Given the description of an element on the screen output the (x, y) to click on. 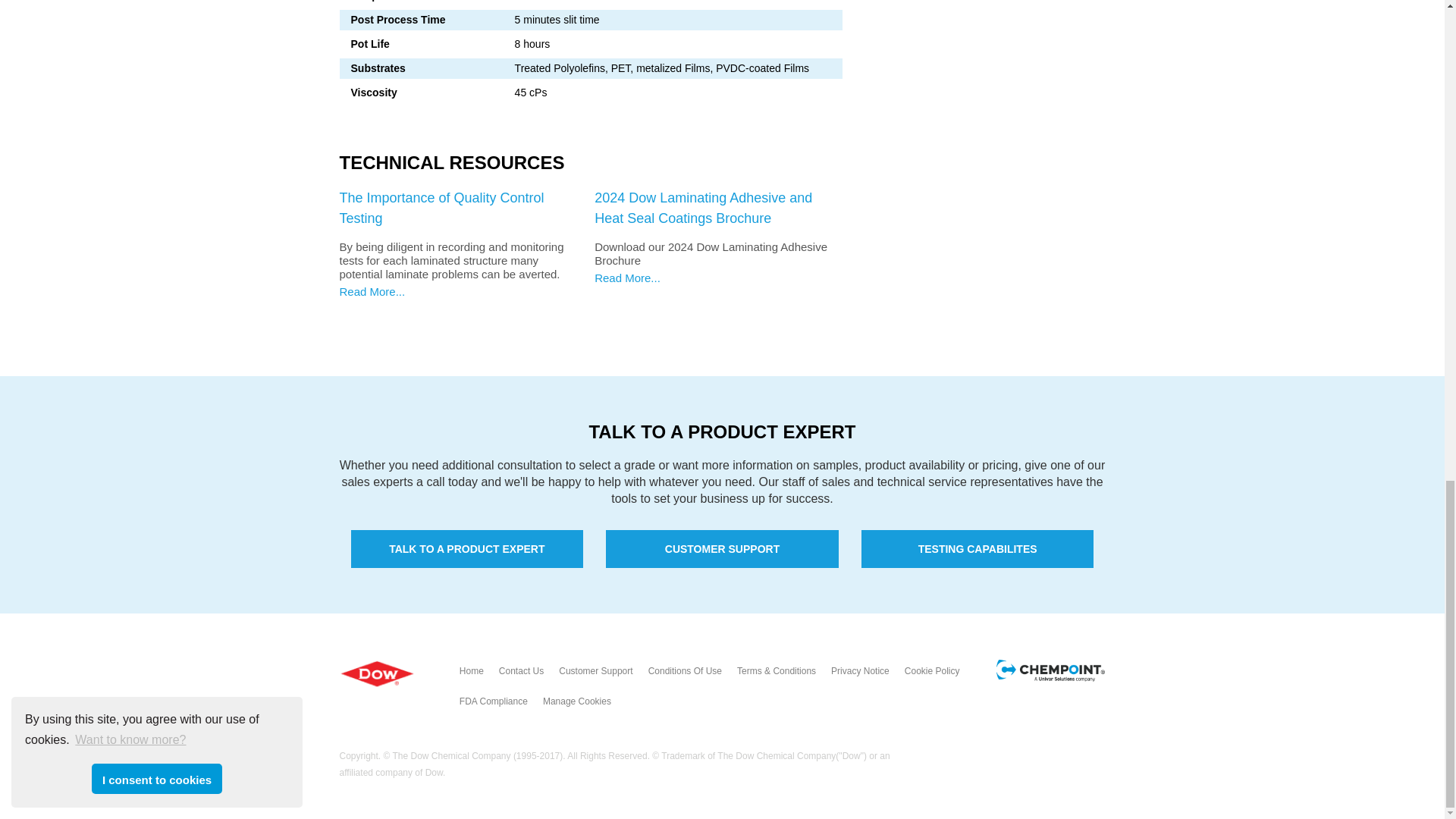
Read More... (372, 291)
2024 Dow Laminating Adhesive and Heat Seal Coatings Brochure (703, 208)
The Importance of Quality Control Testing (441, 208)
